Given the description of an element on the screen output the (x, y) to click on. 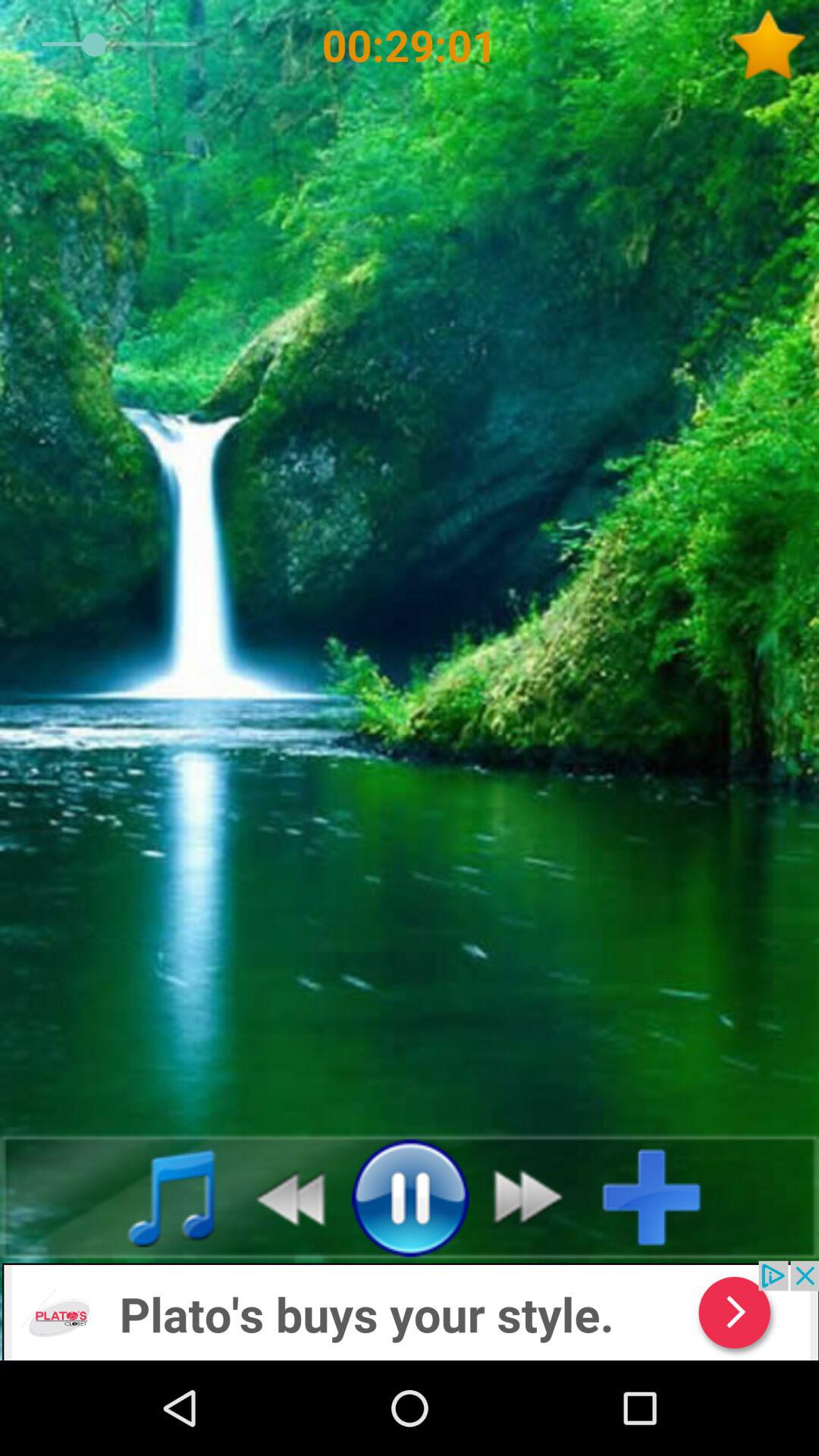
music (154, 1196)
